Given the description of an element on the screen output the (x, y) to click on. 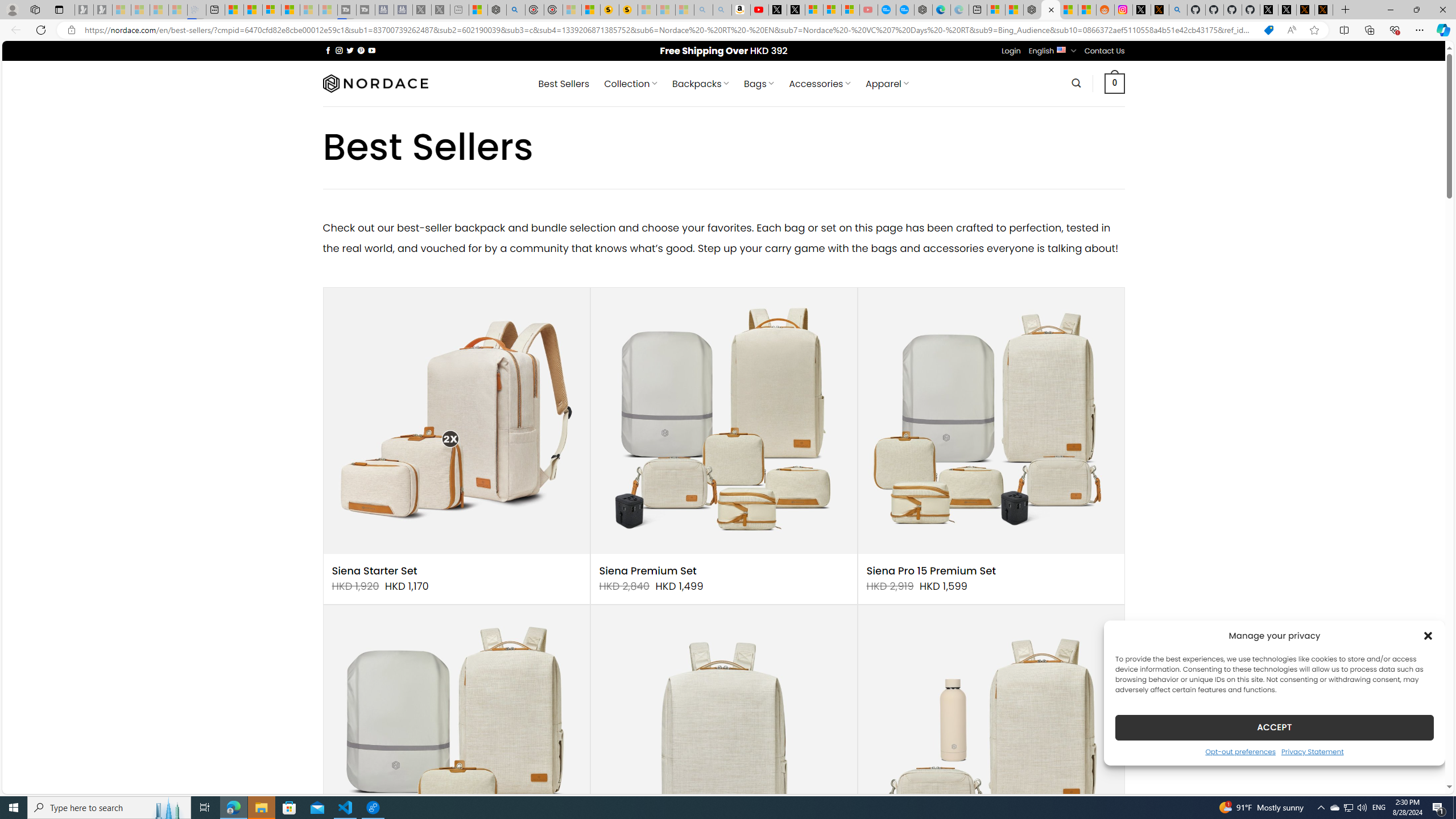
Class: cmplz-close (1428, 635)
Login (1010, 50)
Shanghai, China Weather trends | Microsoft Weather (1086, 9)
Newsletter Sign Up - Sleeping (102, 9)
The most popular Google 'how to' searches (904, 9)
help.x.com | 524: A timeout occurred (1159, 9)
X Privacy Policy (1324, 9)
